Given the description of an element on the screen output the (x, y) to click on. 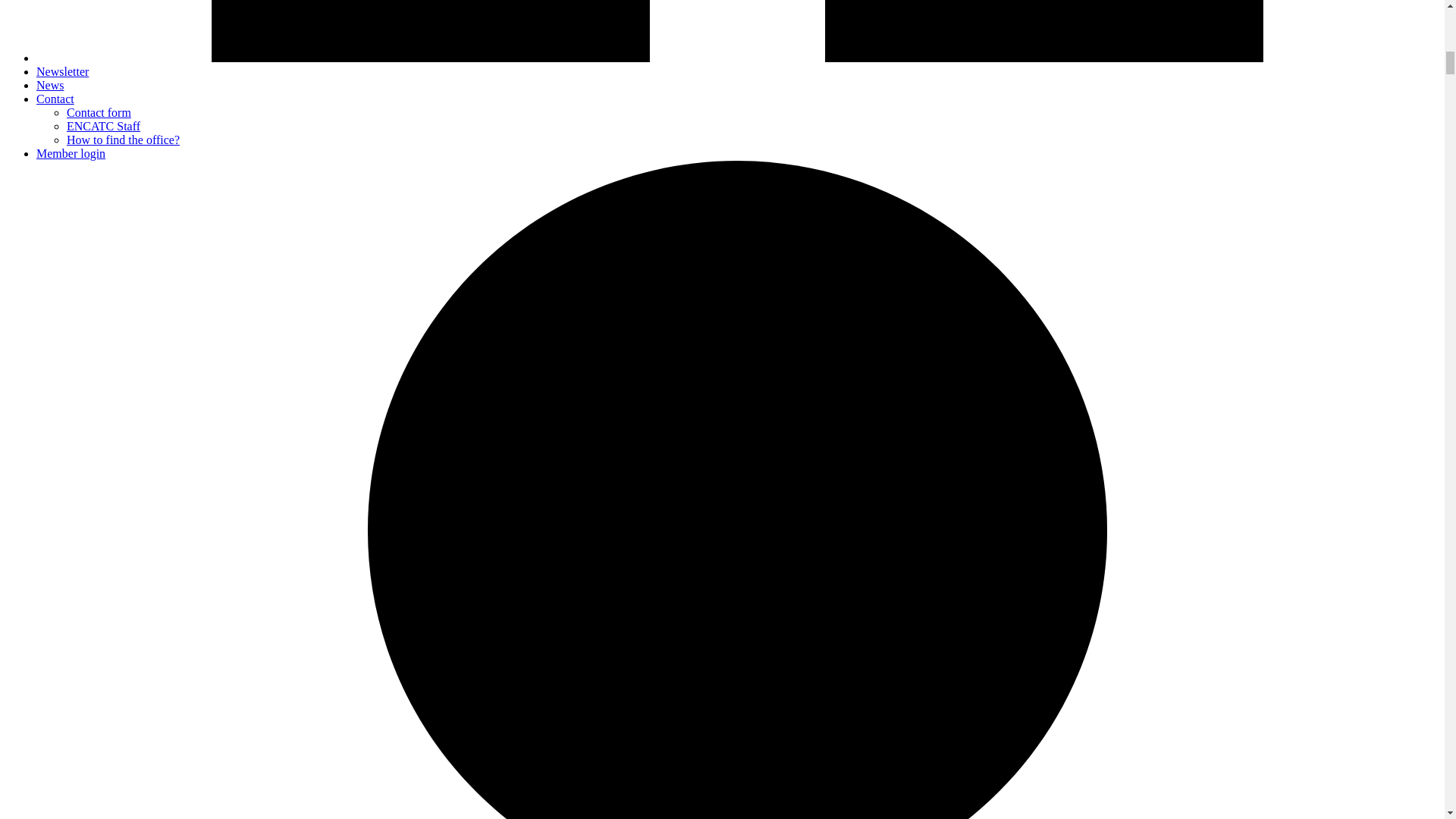
How to find the office? (122, 139)
ENCATC Staff (102, 125)
Contact (55, 98)
Contact form (98, 112)
ENCATC Staff (102, 125)
Contact  form (98, 112)
News (50, 84)
News (50, 84)
Contact (55, 98)
ENCATC news (62, 71)
